Given the description of an element on the screen output the (x, y) to click on. 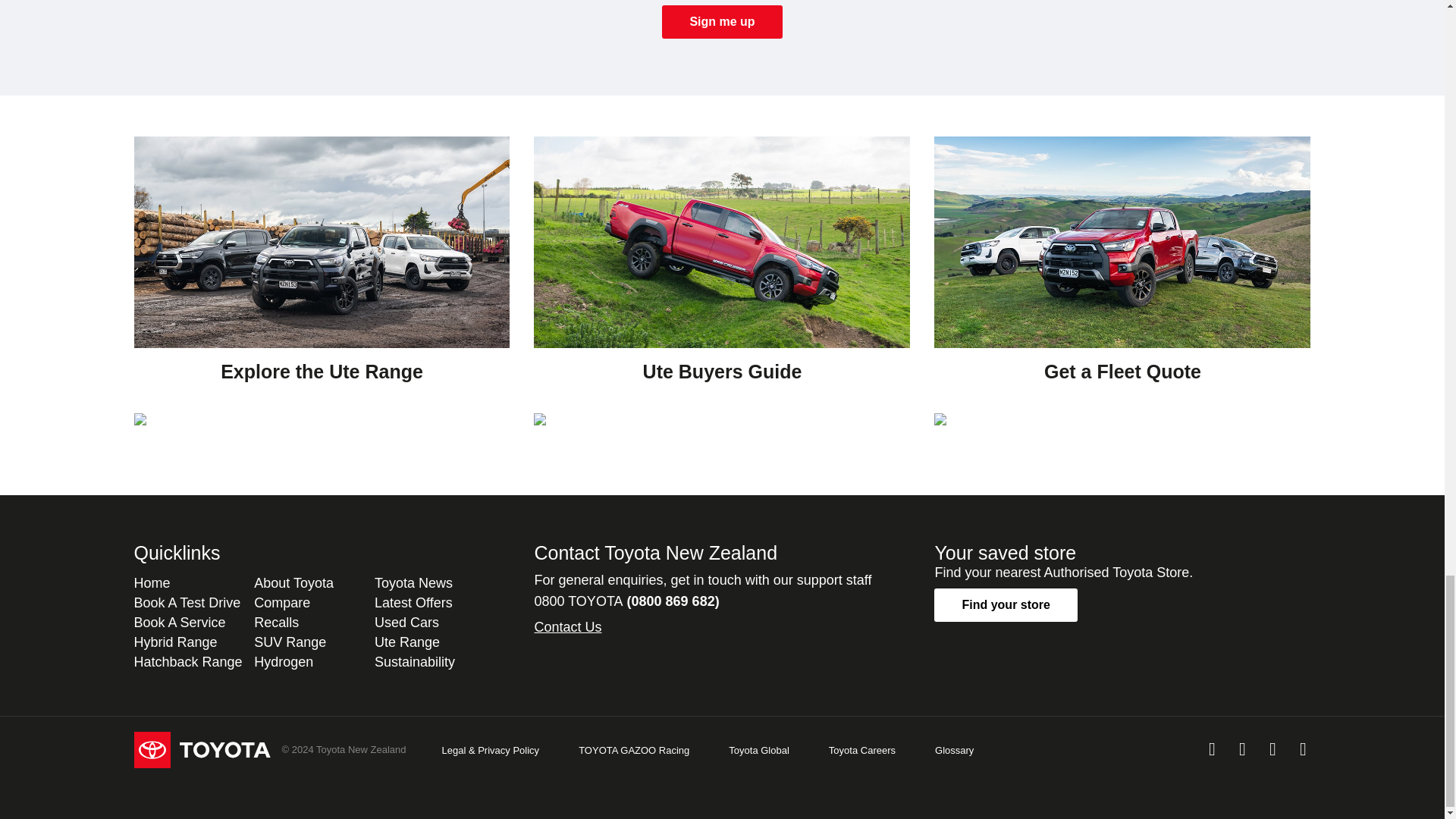
Get a Fleet Quote (1122, 274)
Sign me up (721, 21)
About Toyota (293, 582)
Home (151, 582)
Explore the Ute Range (321, 274)
Ute Buyers Guide (722, 274)
